Given the description of an element on the screen output the (x, y) to click on. 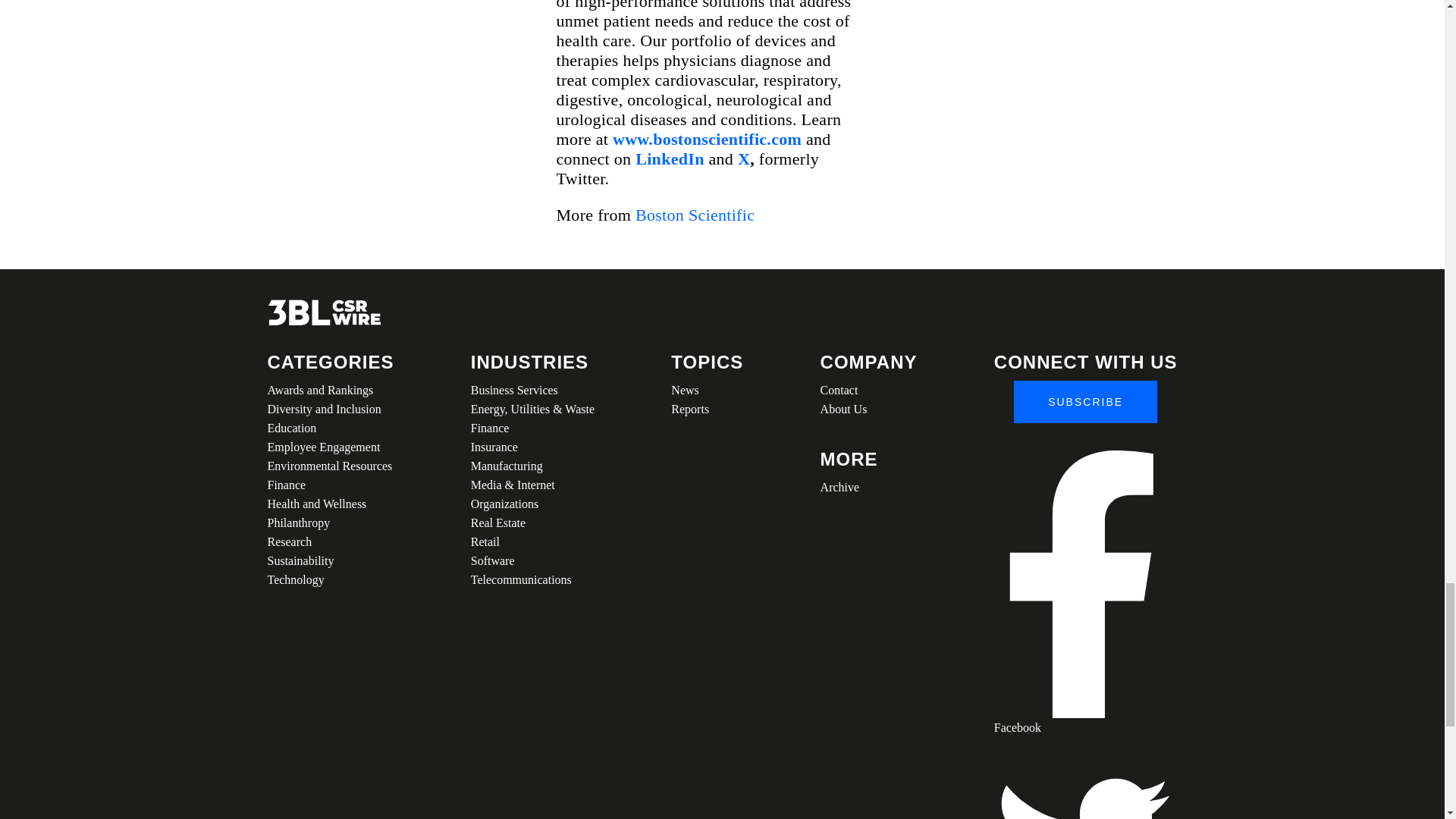
CATEGORIES (329, 362)
LinkedIn (668, 158)
www.bostonscientific.com (707, 138)
Boston Scientific (694, 214)
